Given the description of an element on the screen output the (x, y) to click on. 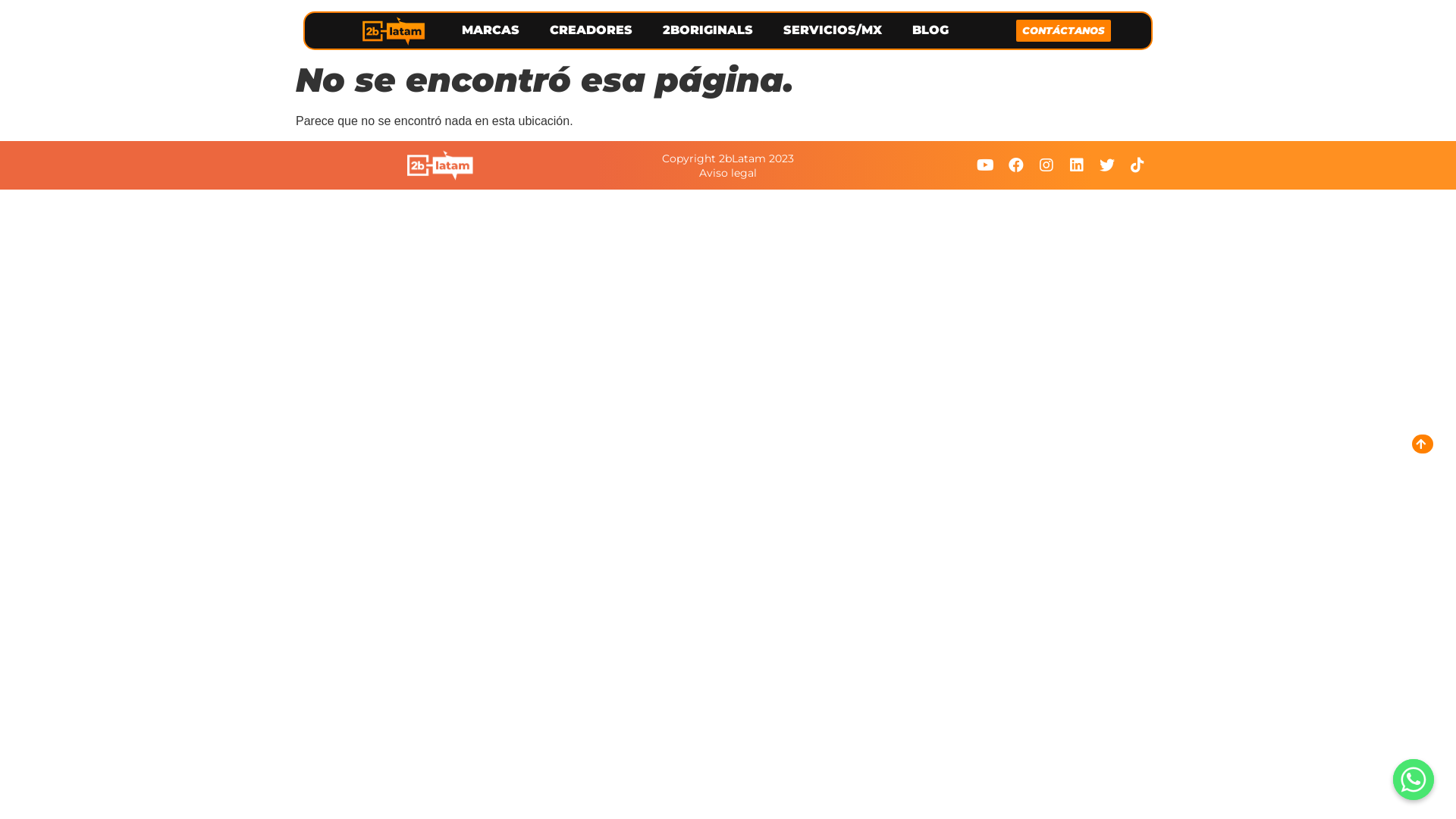
2BORIGINALS Element type: text (707, 29)
CREADORES Element type: text (590, 29)
MARCAS Element type: text (490, 29)
SERVICIOS/MX Element type: text (832, 29)
BLOG Element type: text (930, 29)
Aviso legal Element type: text (727, 172)
